Given the description of an element on the screen output the (x, y) to click on. 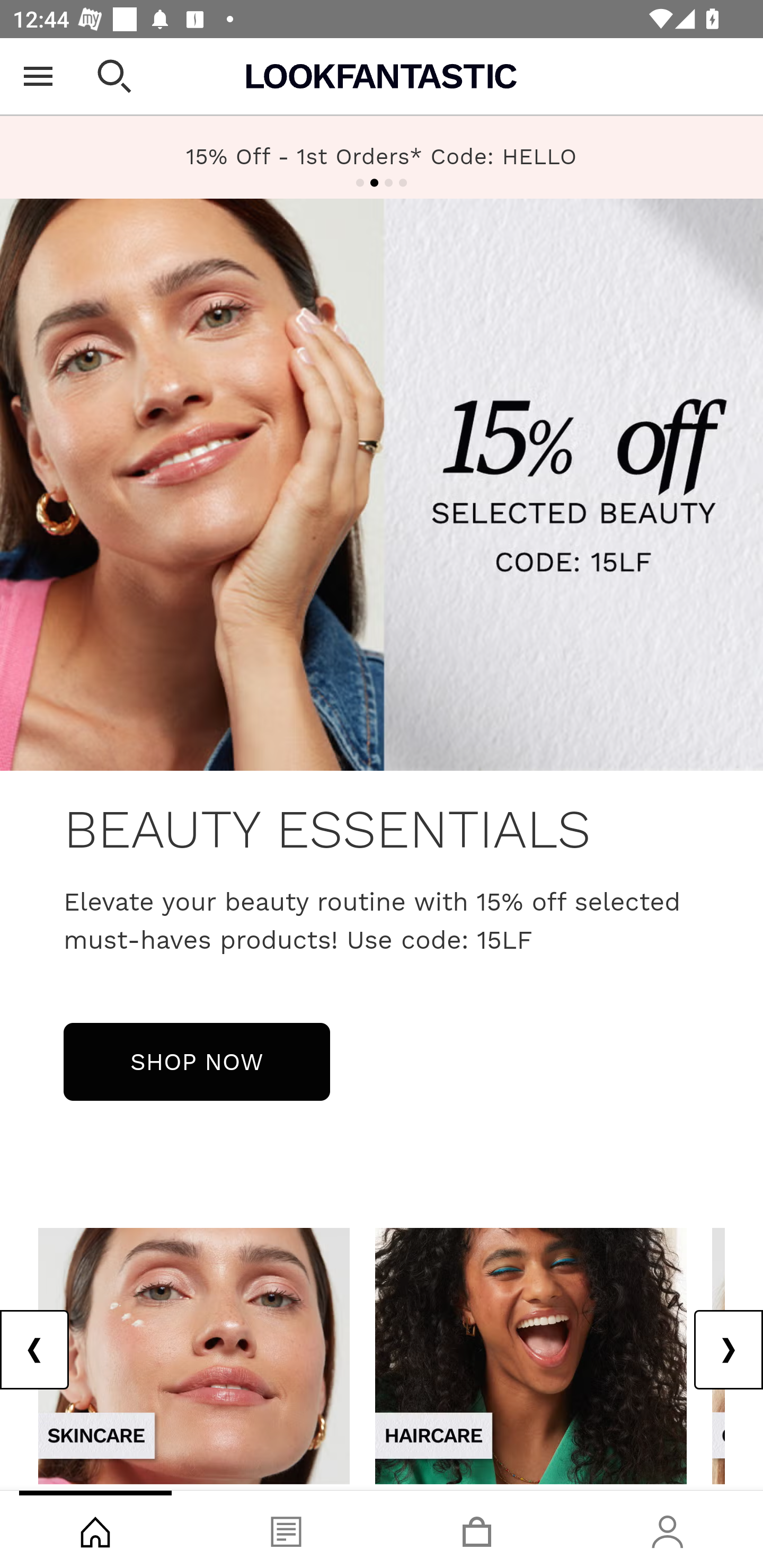
Open Menu (38, 75)
Open search (114, 75)
Lookfantastic USA (381, 75)
SHOP NOW (196, 1061)
view-all (193, 1355)
view-all (530, 1355)
Previous (35, 1349)
Next (727, 1349)
Shop, tab, 1 of 4 (95, 1529)
Blog, tab, 2 of 4 (285, 1529)
Basket, tab, 3 of 4 (476, 1529)
Account, tab, 4 of 4 (667, 1529)
